Given the description of an element on the screen output the (x, y) to click on. 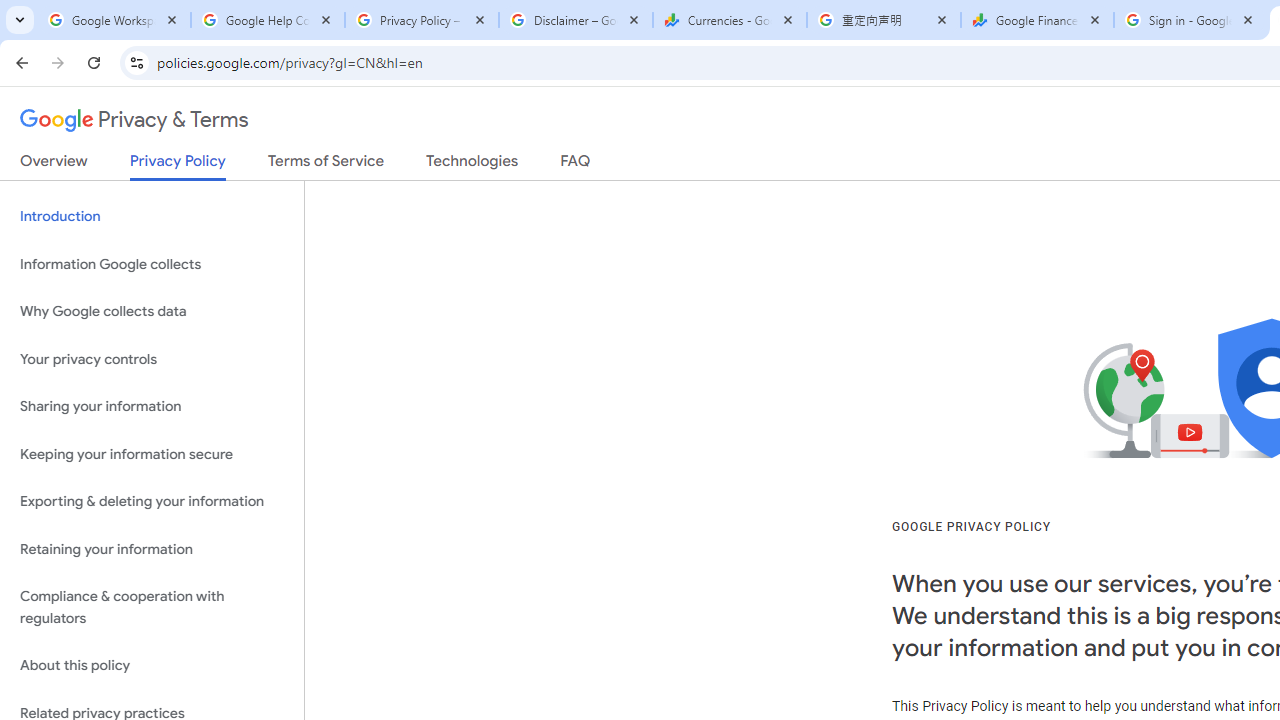
Your privacy controls (152, 358)
Currencies - Google Finance (729, 20)
Sign in - Google Accounts (1190, 20)
Information Google collects (152, 263)
Keeping your information secure (152, 453)
Exporting & deleting your information (152, 502)
Retaining your information (152, 548)
